Given the description of an element on the screen output the (x, y) to click on. 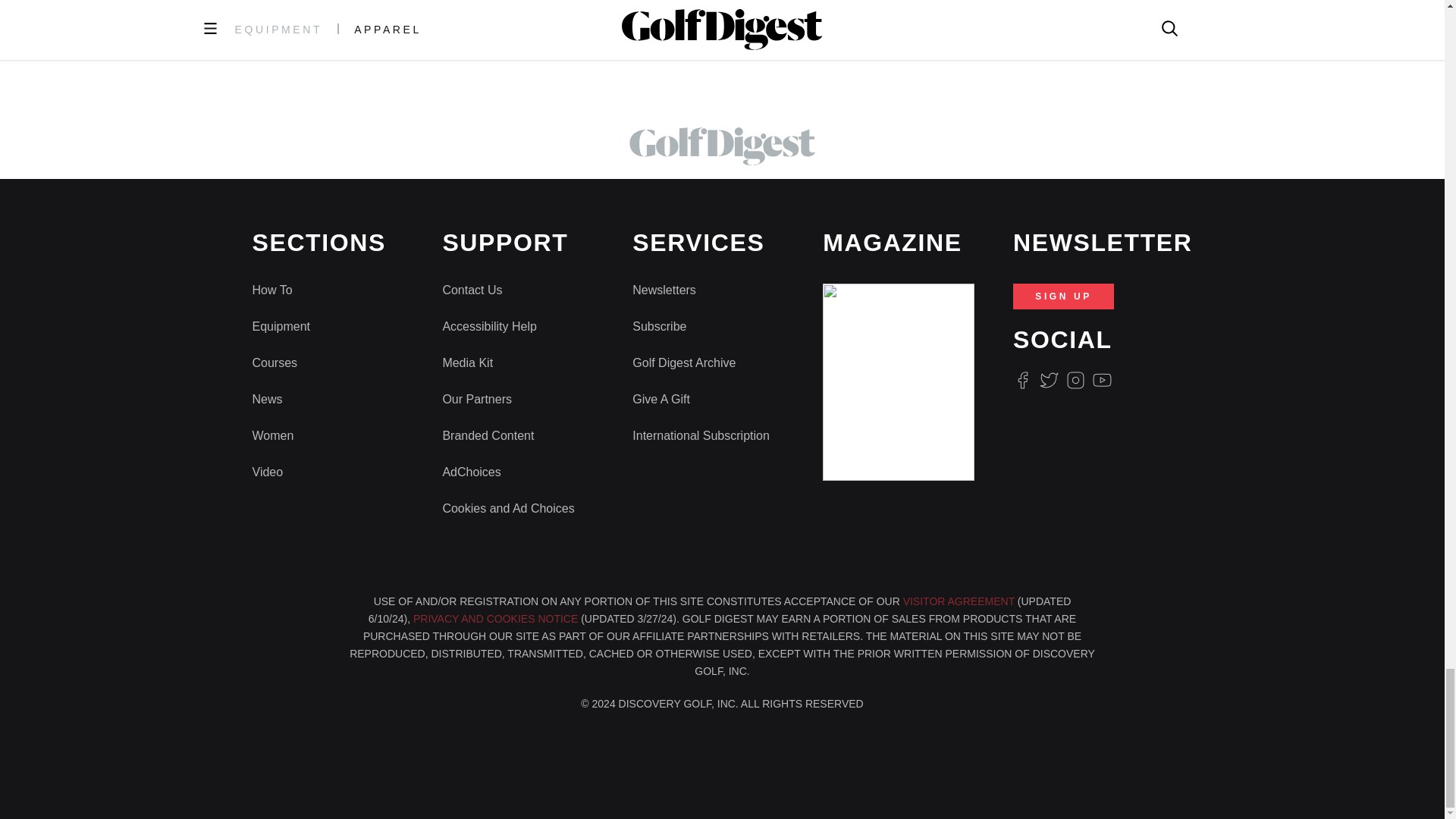
Twitter Logo (1048, 380)
Facebook Logo (1022, 380)
Instagram Logo (1074, 380)
Youtube Icon (1102, 380)
